Given the description of an element on the screen output the (x, y) to click on. 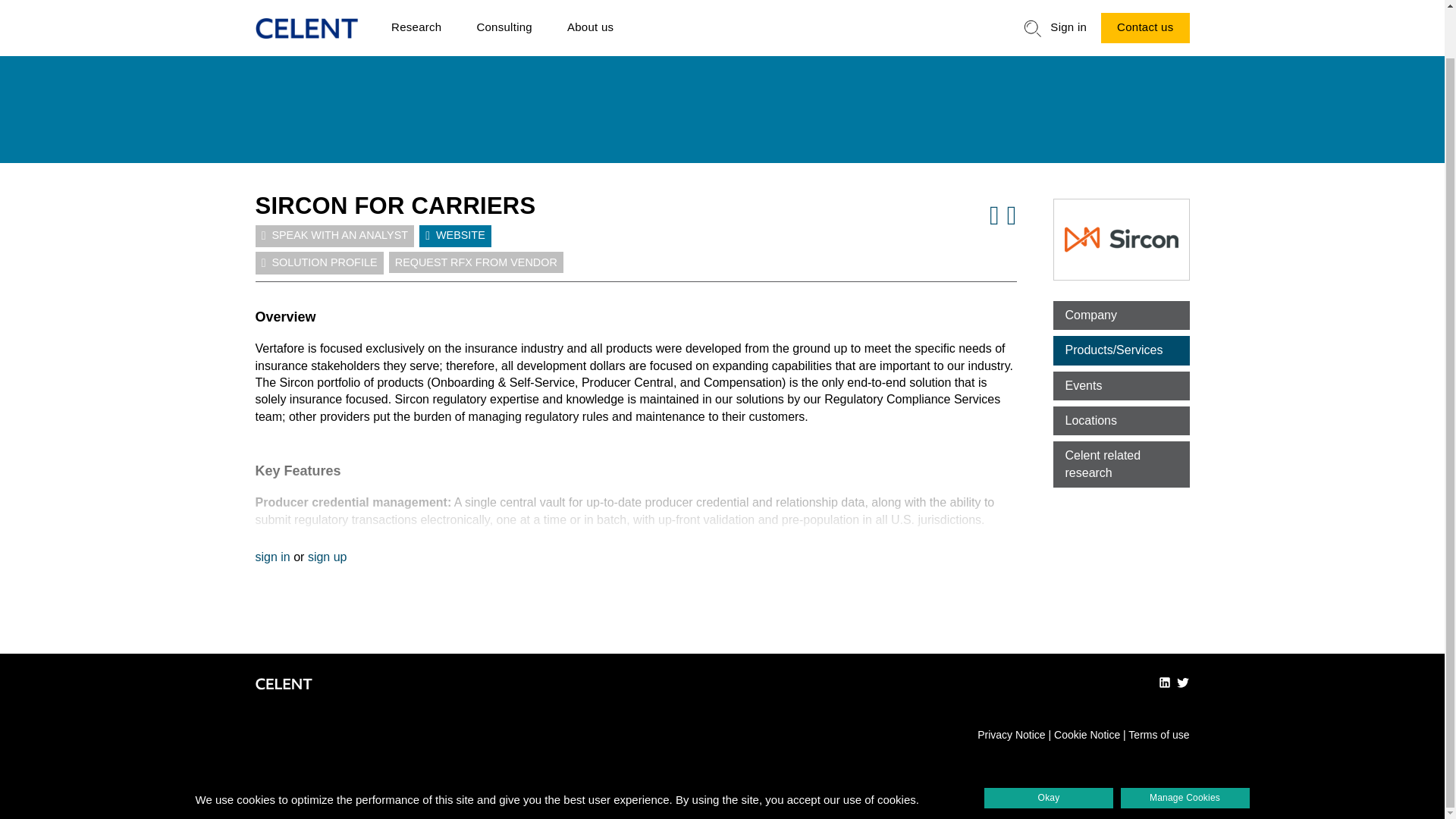
About us (590, 11)
search (1032, 8)
Consulting (503, 11)
Contact us (1144, 11)
Research (415, 11)
Sign in (1068, 11)
Home (306, 9)
Okay (1048, 746)
Manage Cookies (1185, 746)
